Given the description of an element on the screen output the (x, y) to click on. 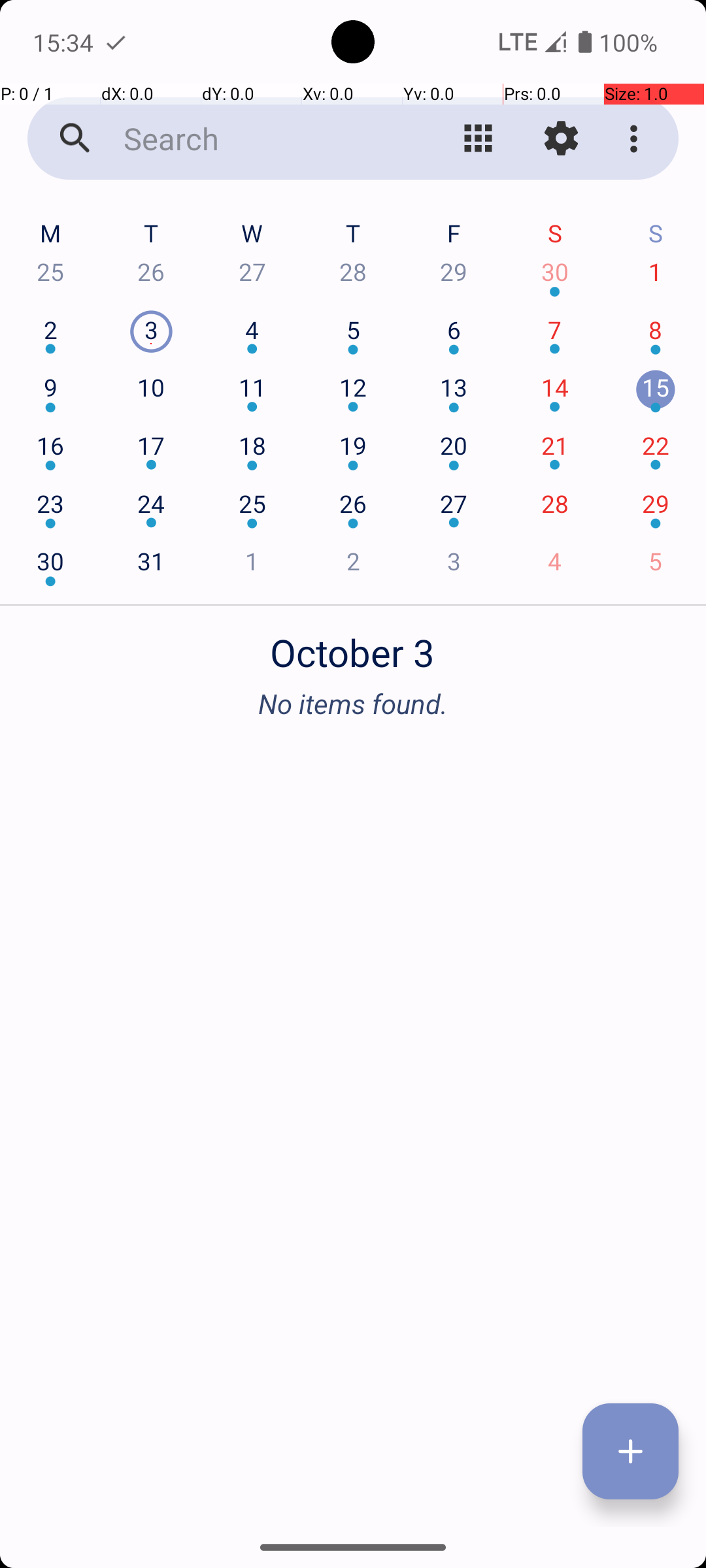
October 3 Element type: android.widget.TextView (352, 644)
